Given the description of an element on the screen output the (x, y) to click on. 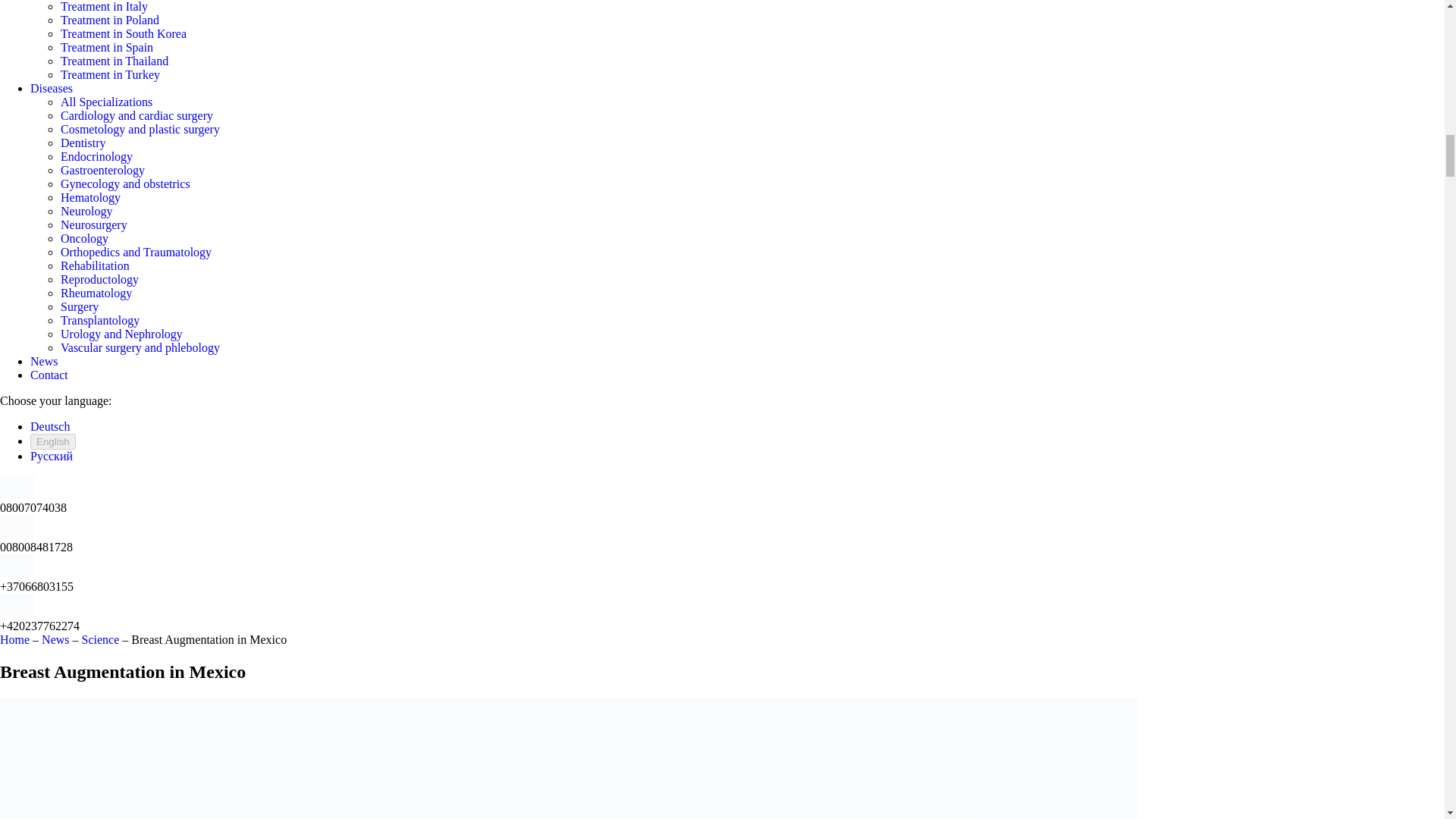
News (55, 639)
Science (100, 639)
Home (14, 639)
